Given the description of an element on the screen output the (x, y) to click on. 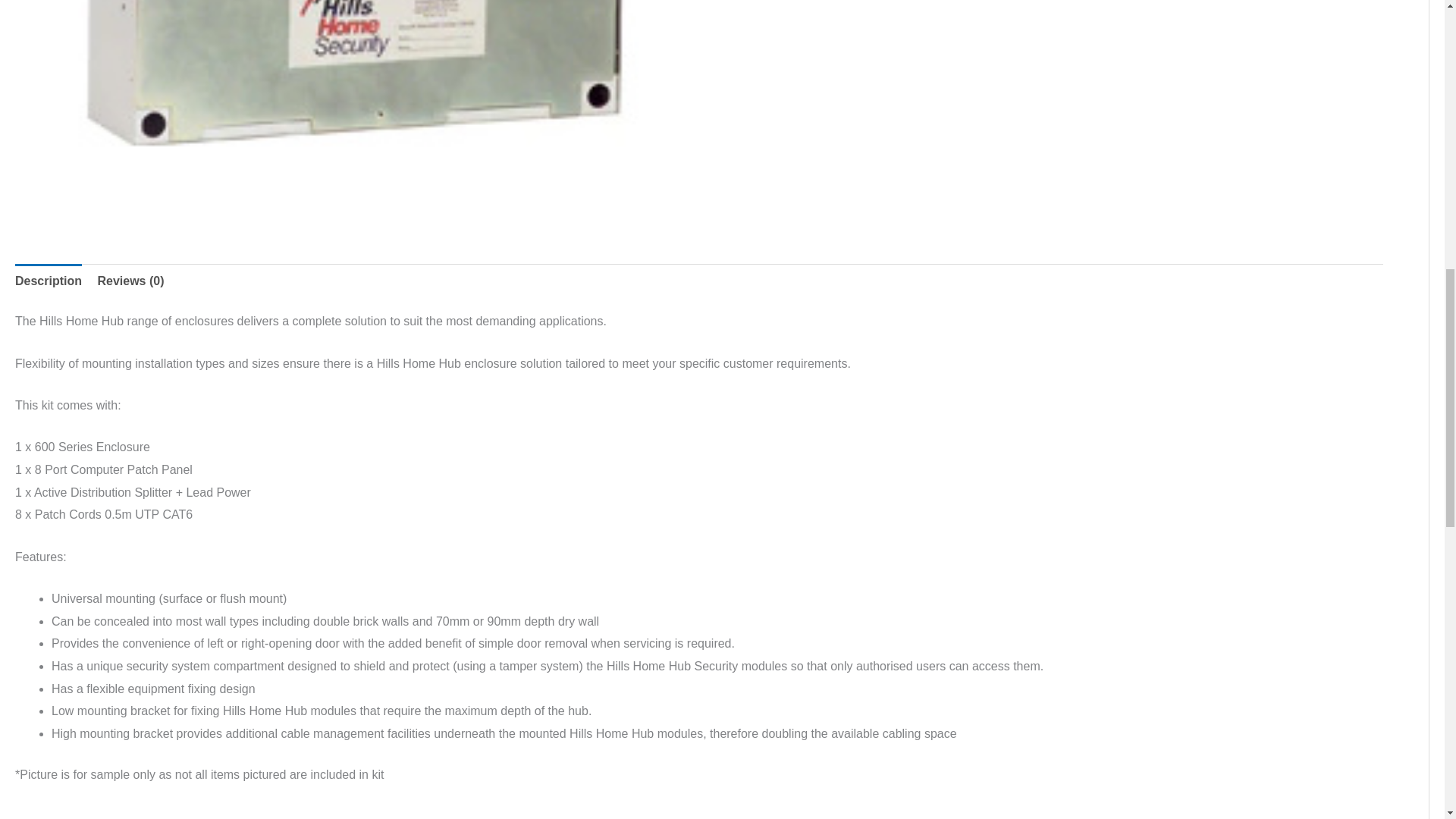
Description (47, 280)
